Given the description of an element on the screen output the (x, y) to click on. 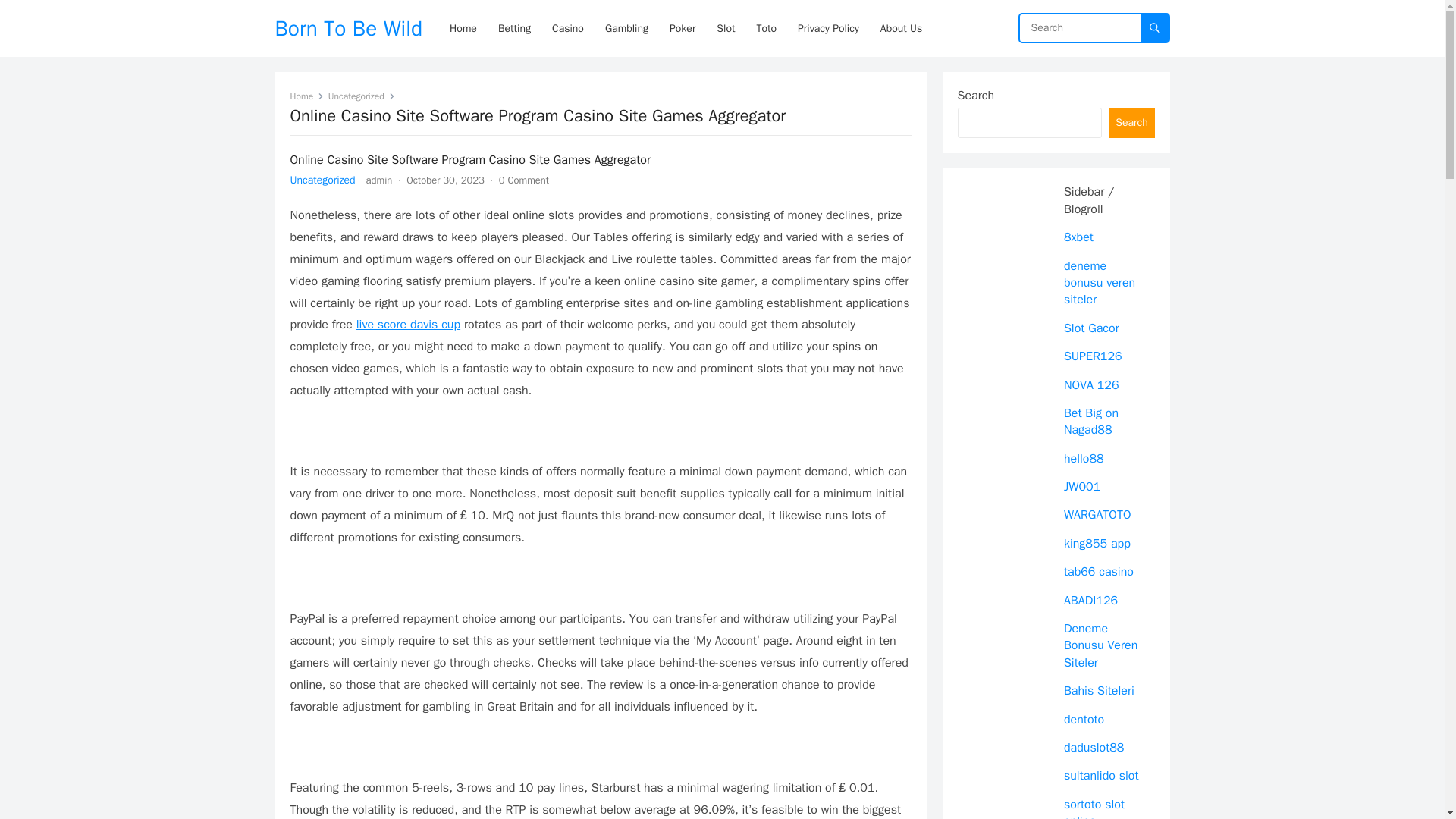
0 Comment (523, 179)
Betting (514, 28)
About Us (900, 28)
live score davis cup (408, 324)
Privacy Policy (828, 28)
Posts by admin (379, 179)
live score davis cup (408, 324)
Uncategorized (361, 96)
Born To Be Wild (348, 28)
Uncategorized (322, 179)
admin (379, 179)
Home (306, 96)
Gambling (626, 28)
